Given the description of an element on the screen output the (x, y) to click on. 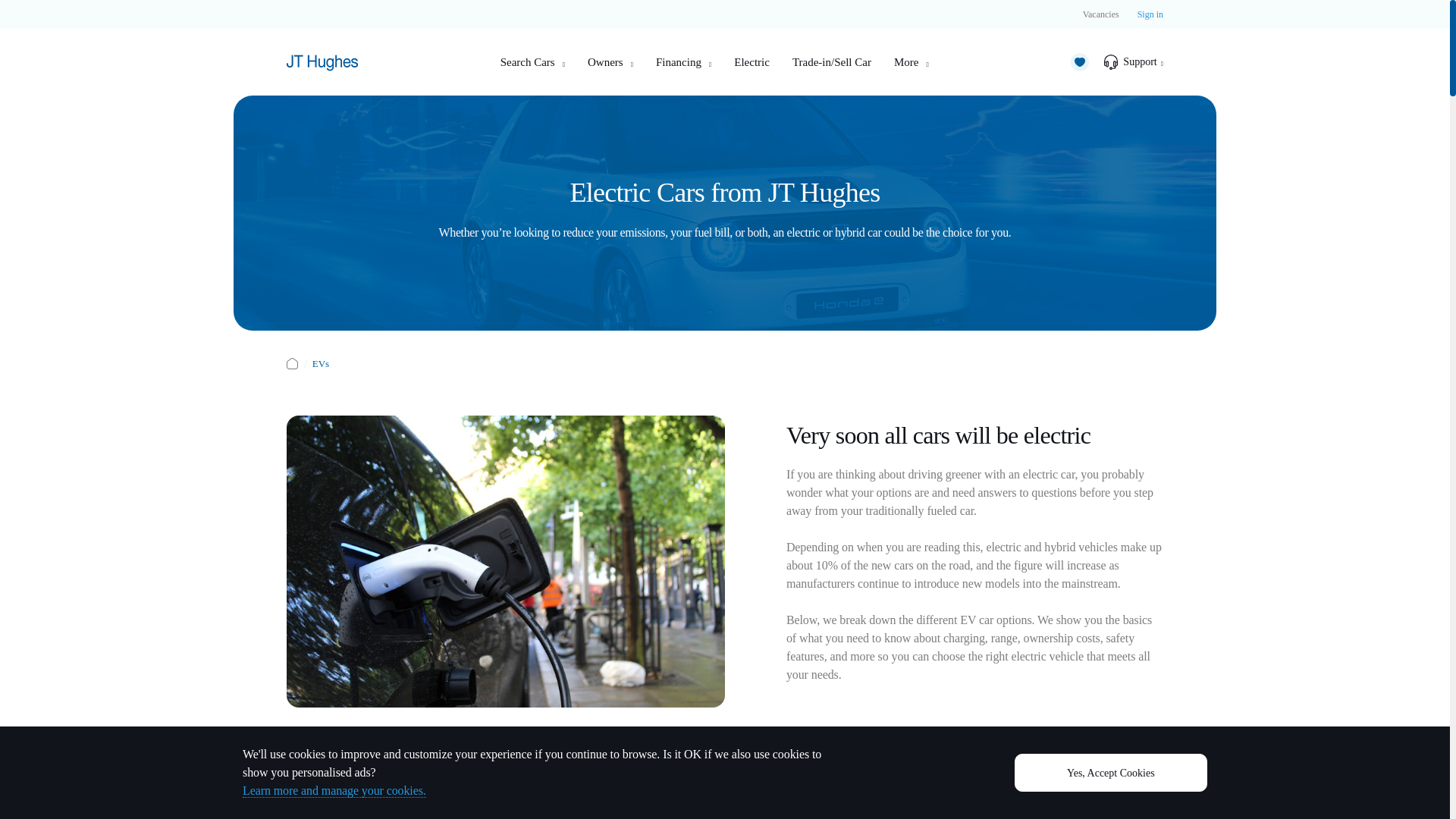
Support (1133, 62)
Vacancies (1101, 14)
Search Cars (532, 61)
Sign in (1150, 14)
